Given the description of an element on the screen output the (x, y) to click on. 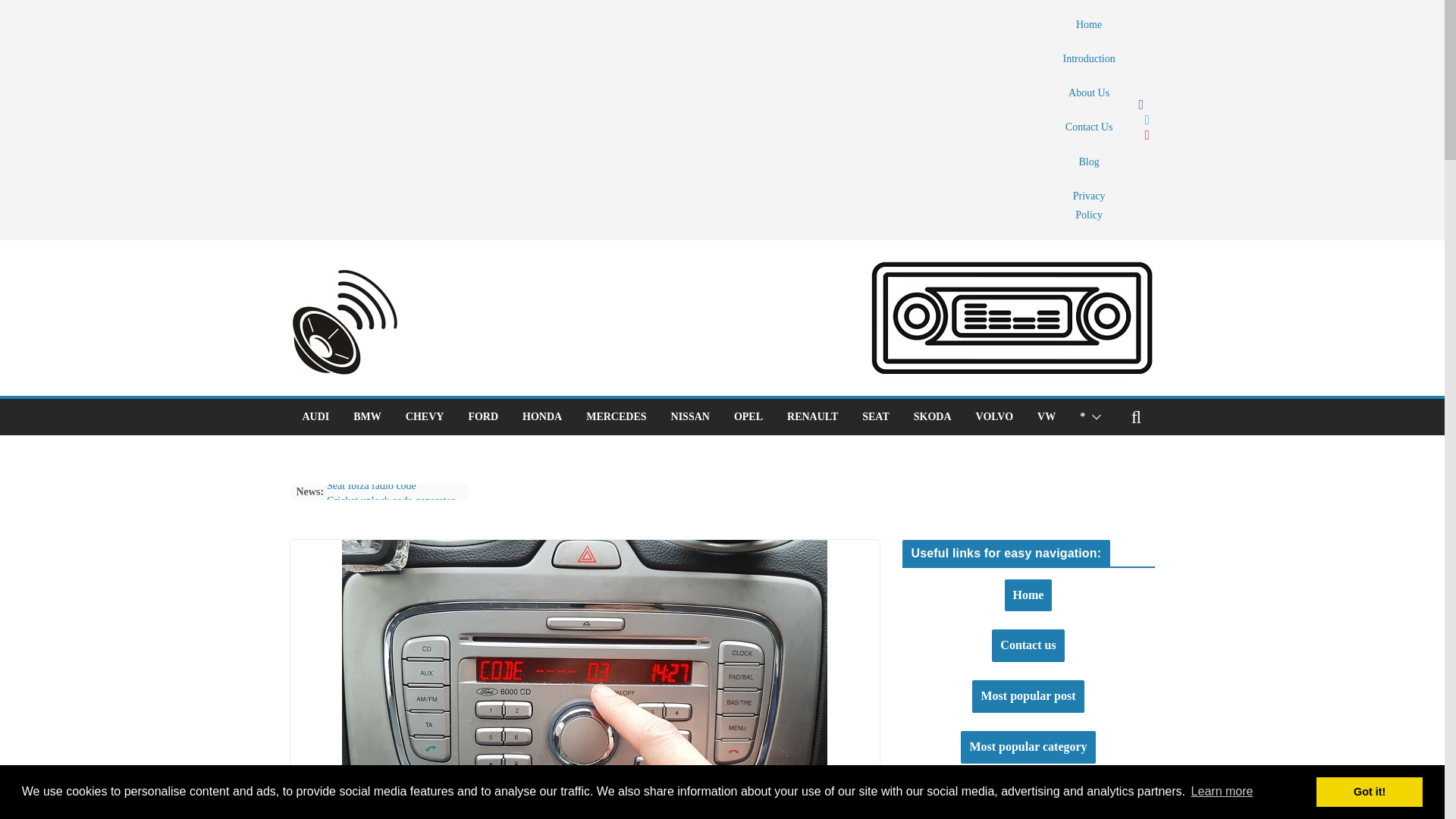
Contact Us (1089, 126)
AUDI (315, 416)
Cricket unlock code generator (390, 500)
VOLVO (994, 416)
RENAULT (812, 416)
About Us (1088, 92)
HONDA (542, 416)
Got it! (1369, 792)
Privacy Policy (1088, 205)
SEAT (875, 416)
SKODA (933, 416)
Home (1088, 24)
CHEVY (425, 416)
Introduction (1088, 58)
